Given the description of an element on the screen output the (x, y) to click on. 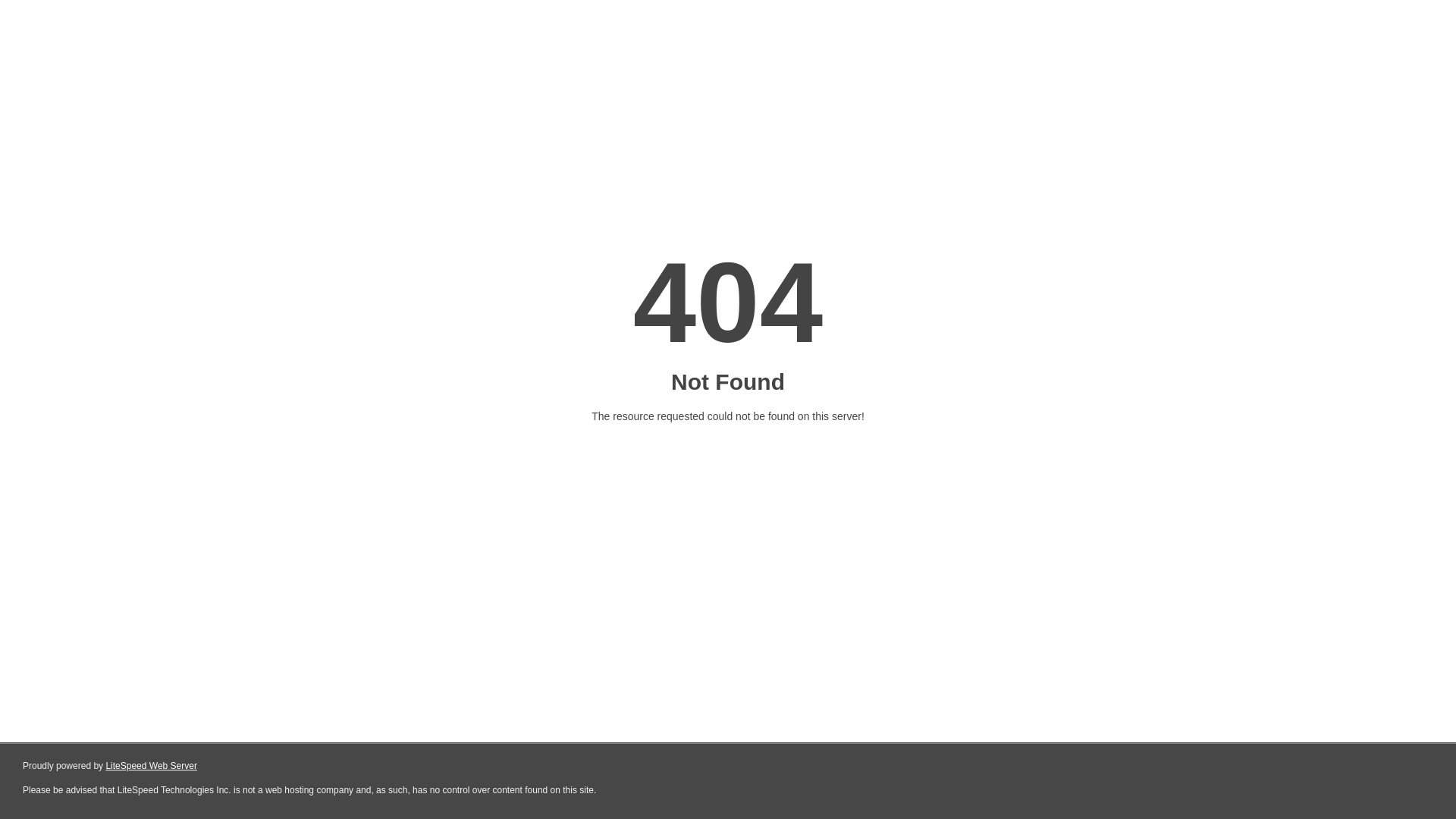
LiteSpeed Web Server Element type: text (151, 765)
